Given the description of an element on the screen output the (x, y) to click on. 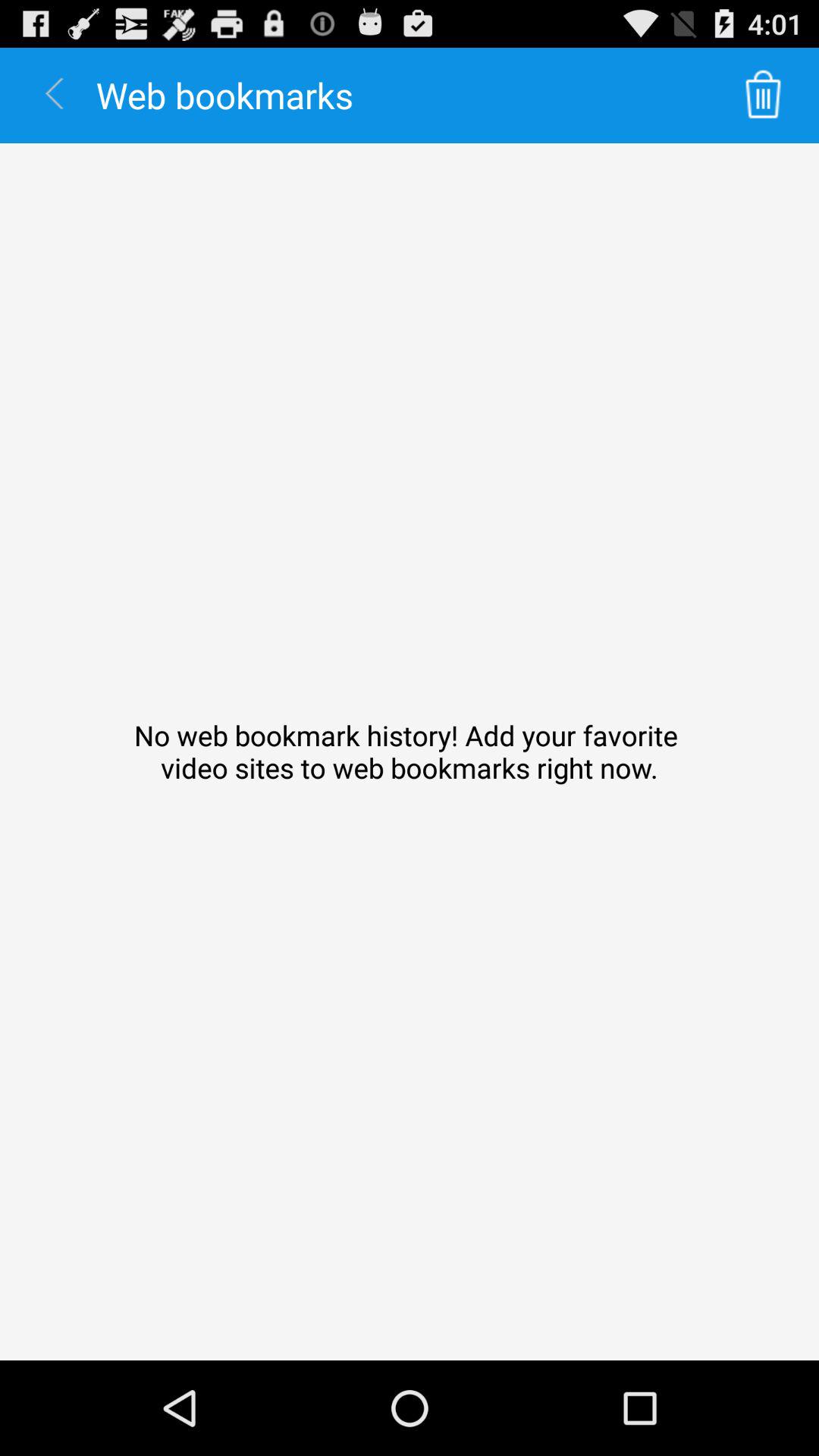
tap icon to the right of the web bookmarks app (763, 95)
